Given the description of an element on the screen output the (x, y) to click on. 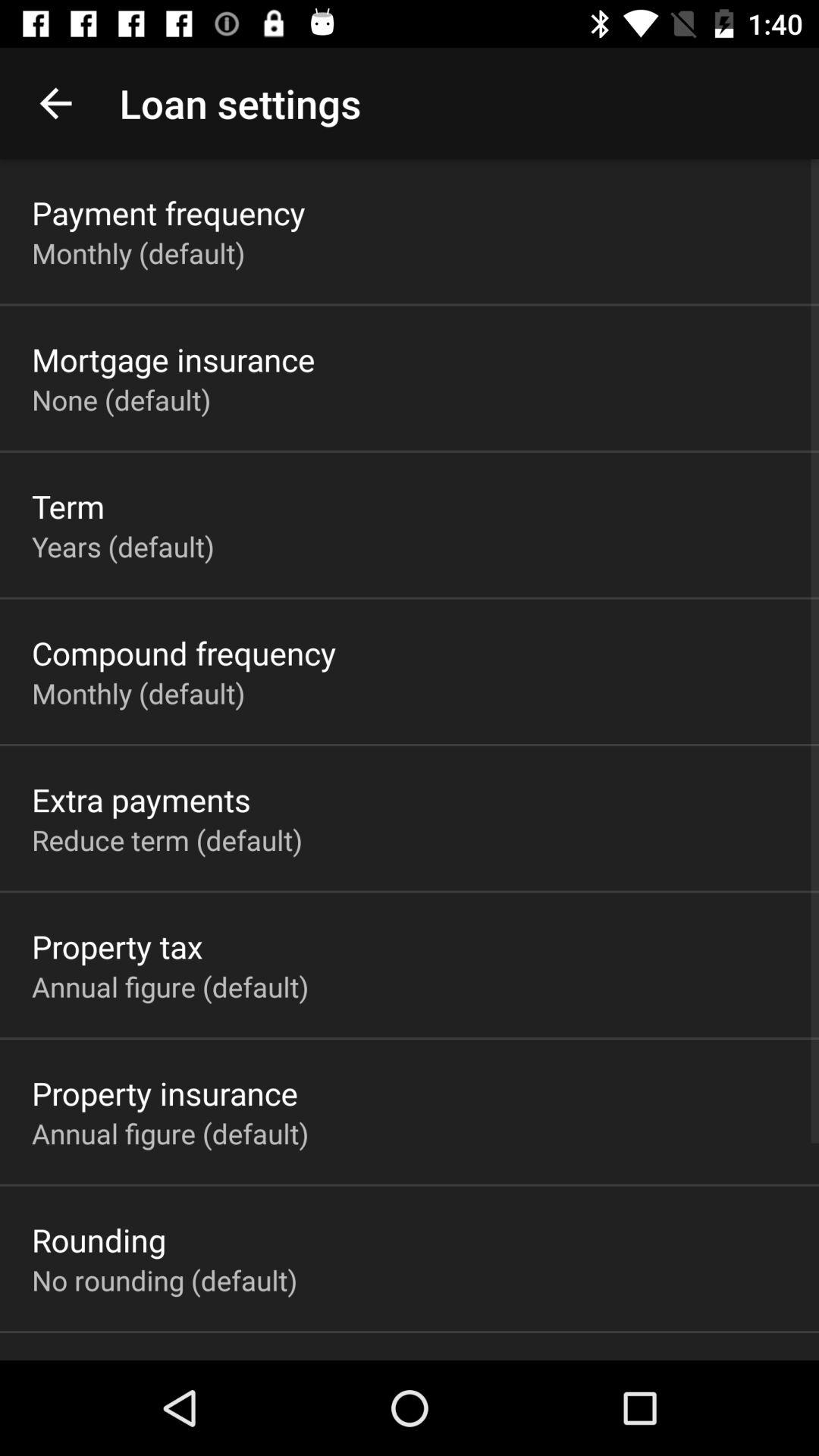
click the app above the reduce term (default) app (140, 799)
